Given the description of an element on the screen output the (x, y) to click on. 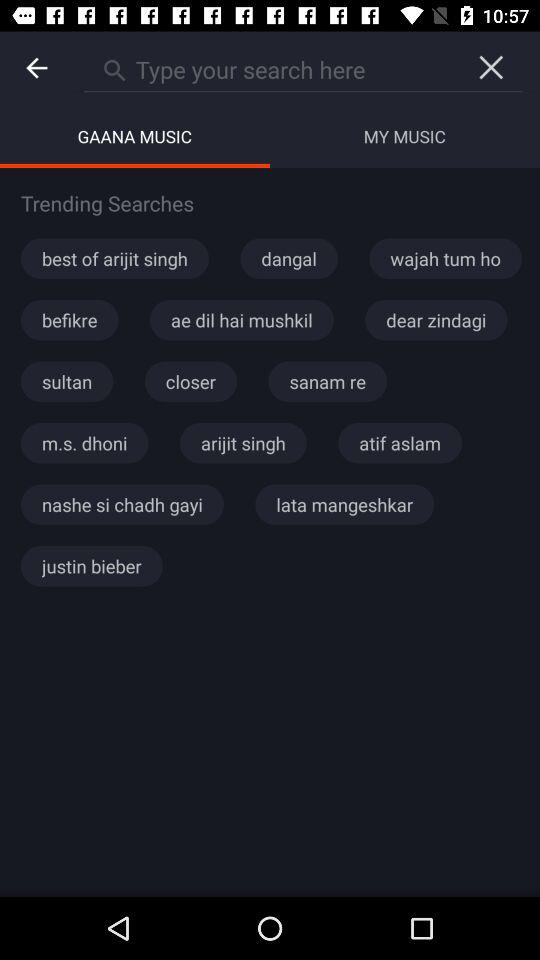
choose item above the gaana music item (36, 68)
